Given the description of an element on the screen output the (x, y) to click on. 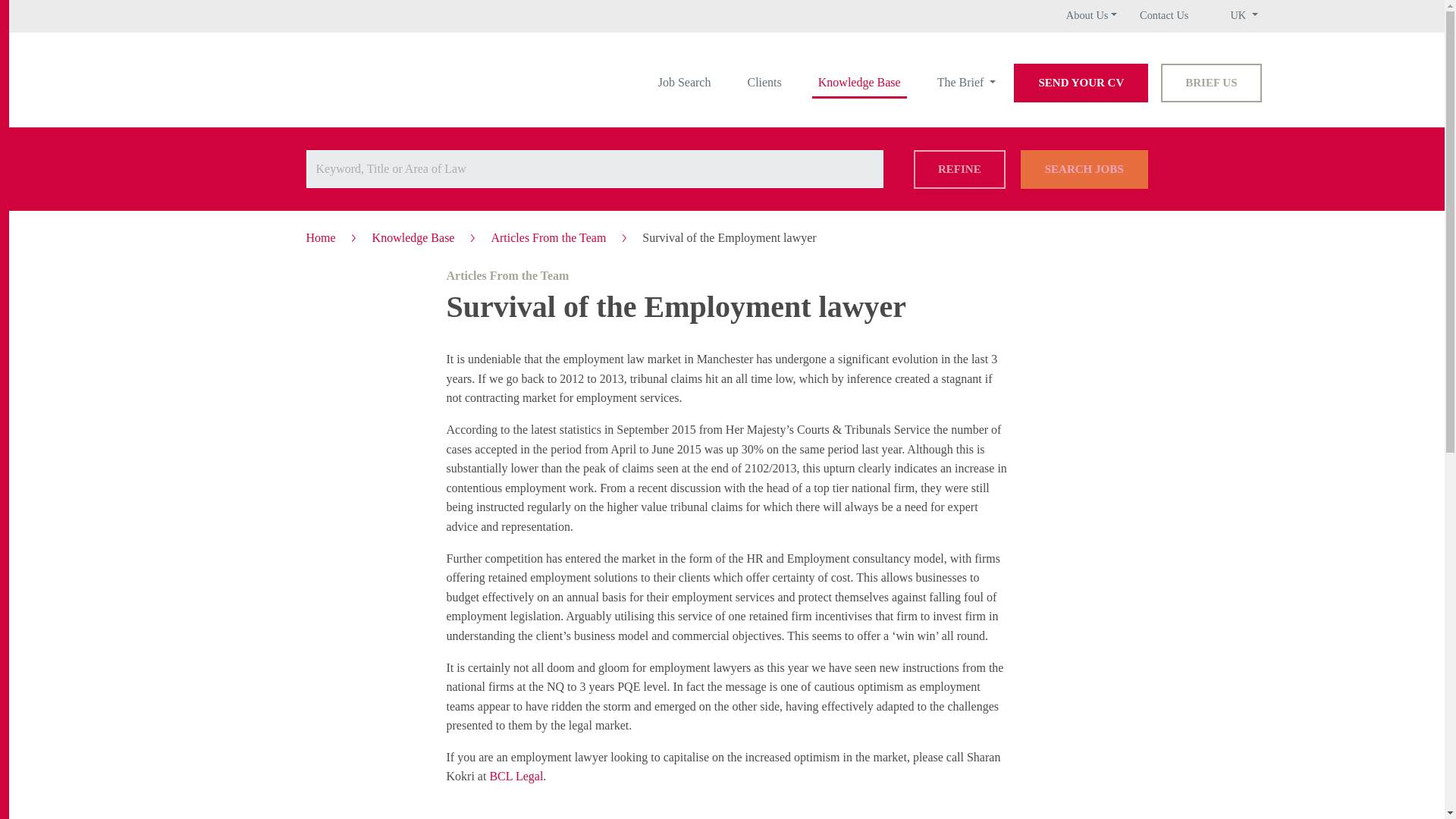
Clients (764, 82)
Contact Us (1164, 15)
UK (1243, 15)
The Brief (967, 82)
About Us (1090, 15)
Job Search (684, 82)
Knowledge Base (859, 82)
